Given the description of an element on the screen output the (x, y) to click on. 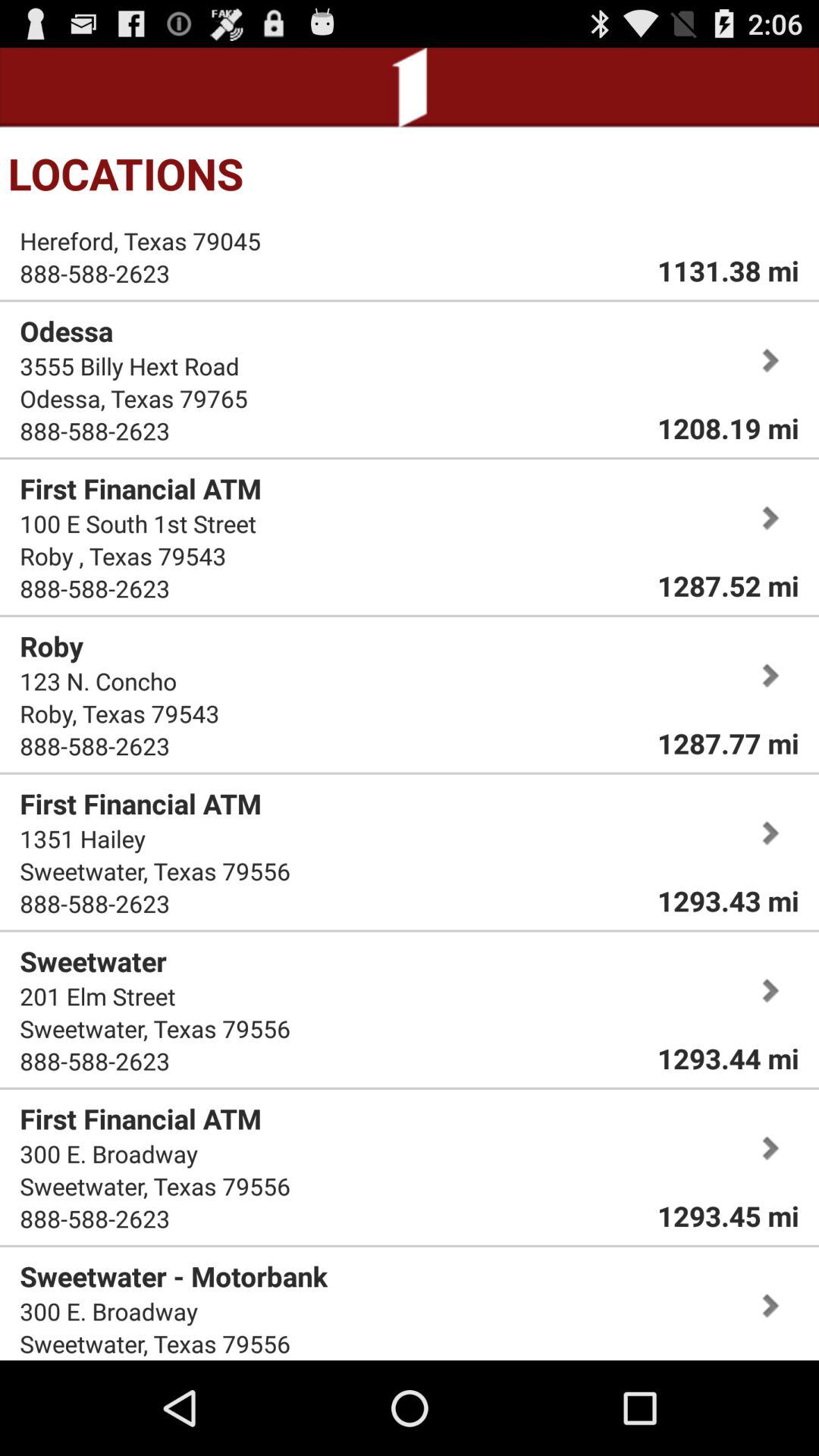
launch the icon below roby icon (97, 680)
